Given the description of an element on the screen output the (x, y) to click on. 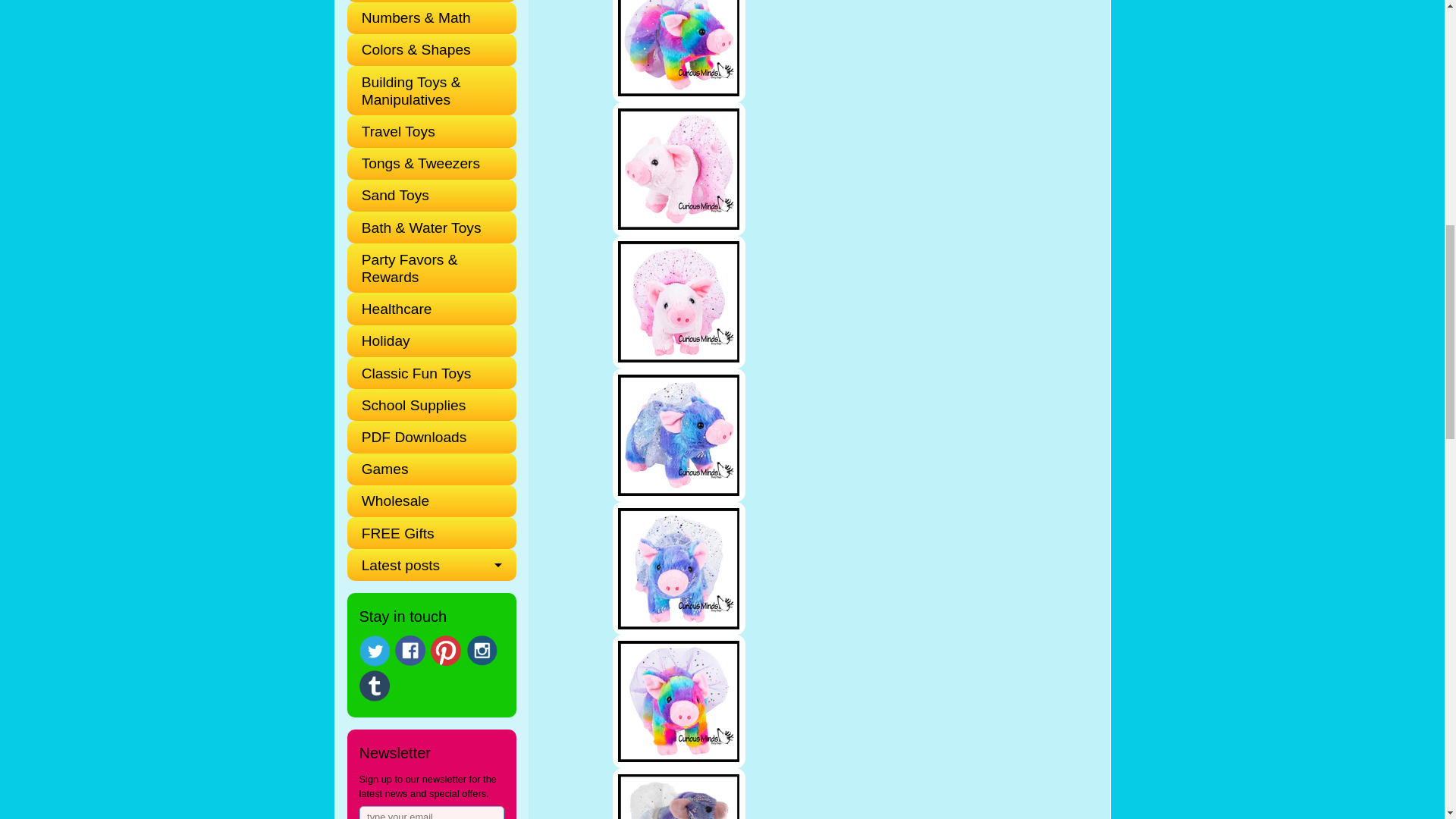
Tumblr (374, 685)
Sand Toys (424, 194)
Twitter (374, 650)
Travel Toys (424, 131)
Pinterest (445, 650)
Instagram (482, 650)
Facebook (409, 650)
